Given the description of an element on the screen output the (x, y) to click on. 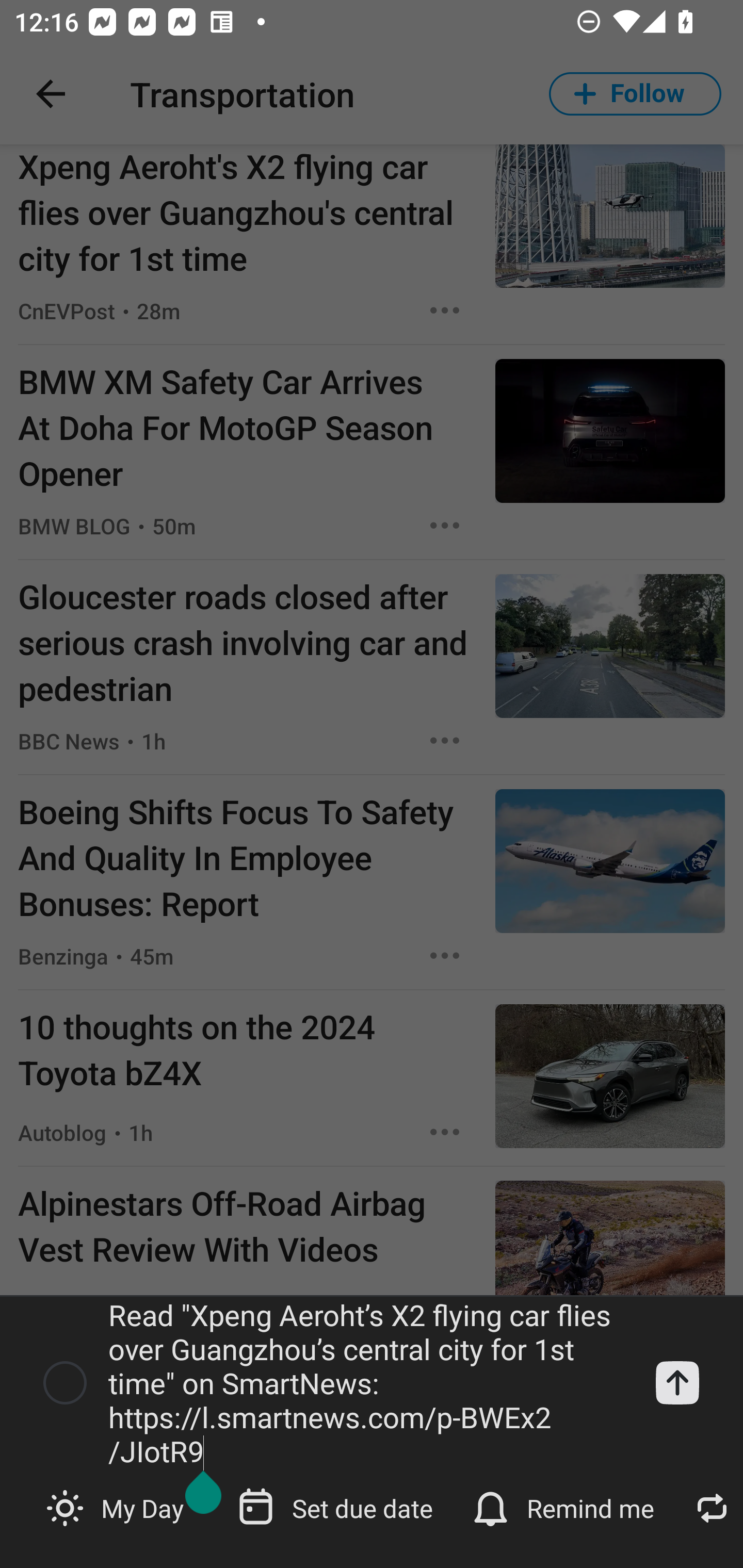
Add a task (676, 1382)
My Day (116, 1507)
Set due date (337, 1507)
Remind me (565, 1507)
